Given the description of an element on the screen output the (x, y) to click on. 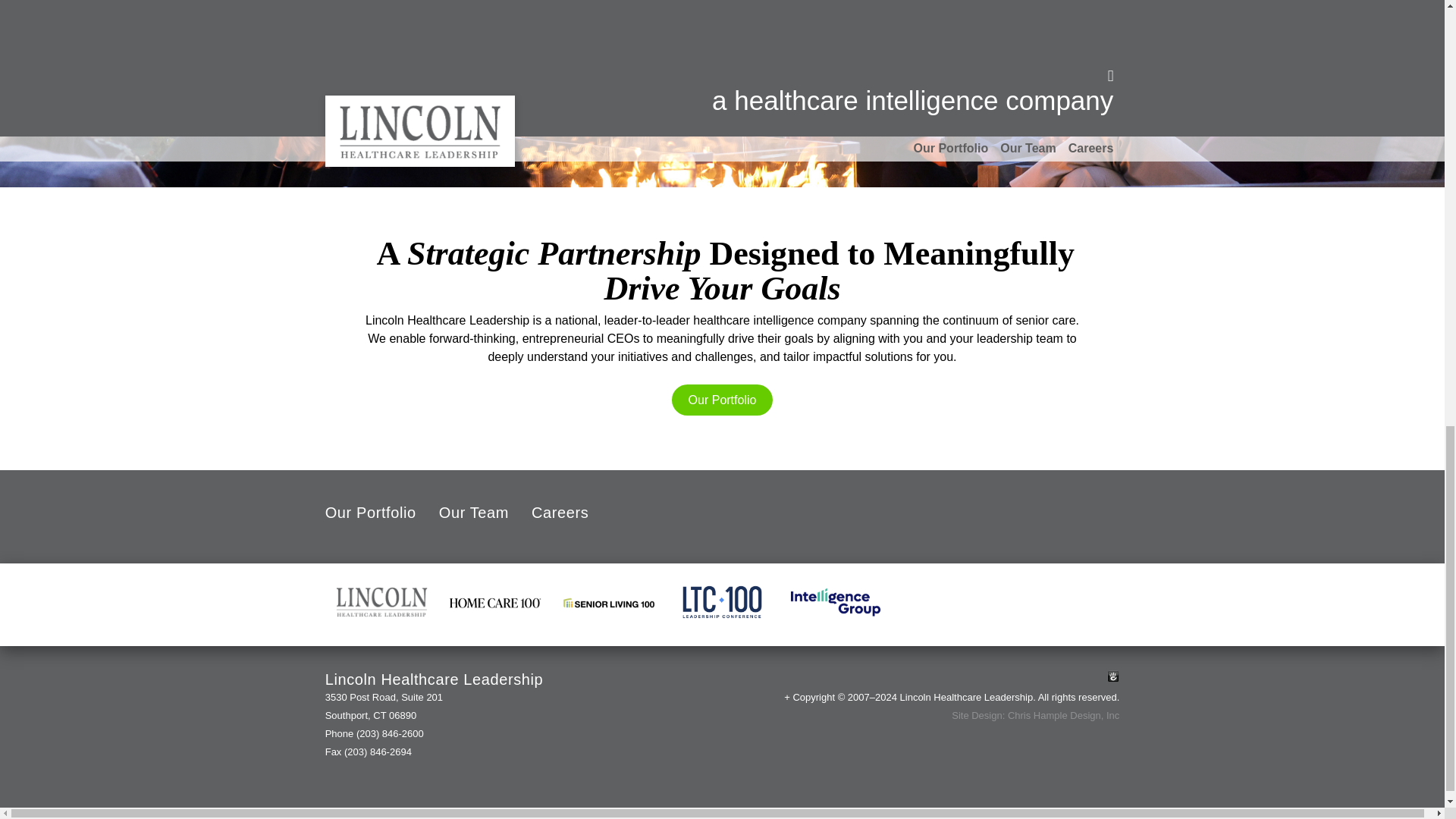
Our Team (473, 514)
Careers (559, 514)
Chris Hample Design, Inc (1063, 715)
Our Portfolio (370, 514)
Our Portfolio (721, 399)
Log In (1112, 676)
